Given the description of an element on the screen output the (x, y) to click on. 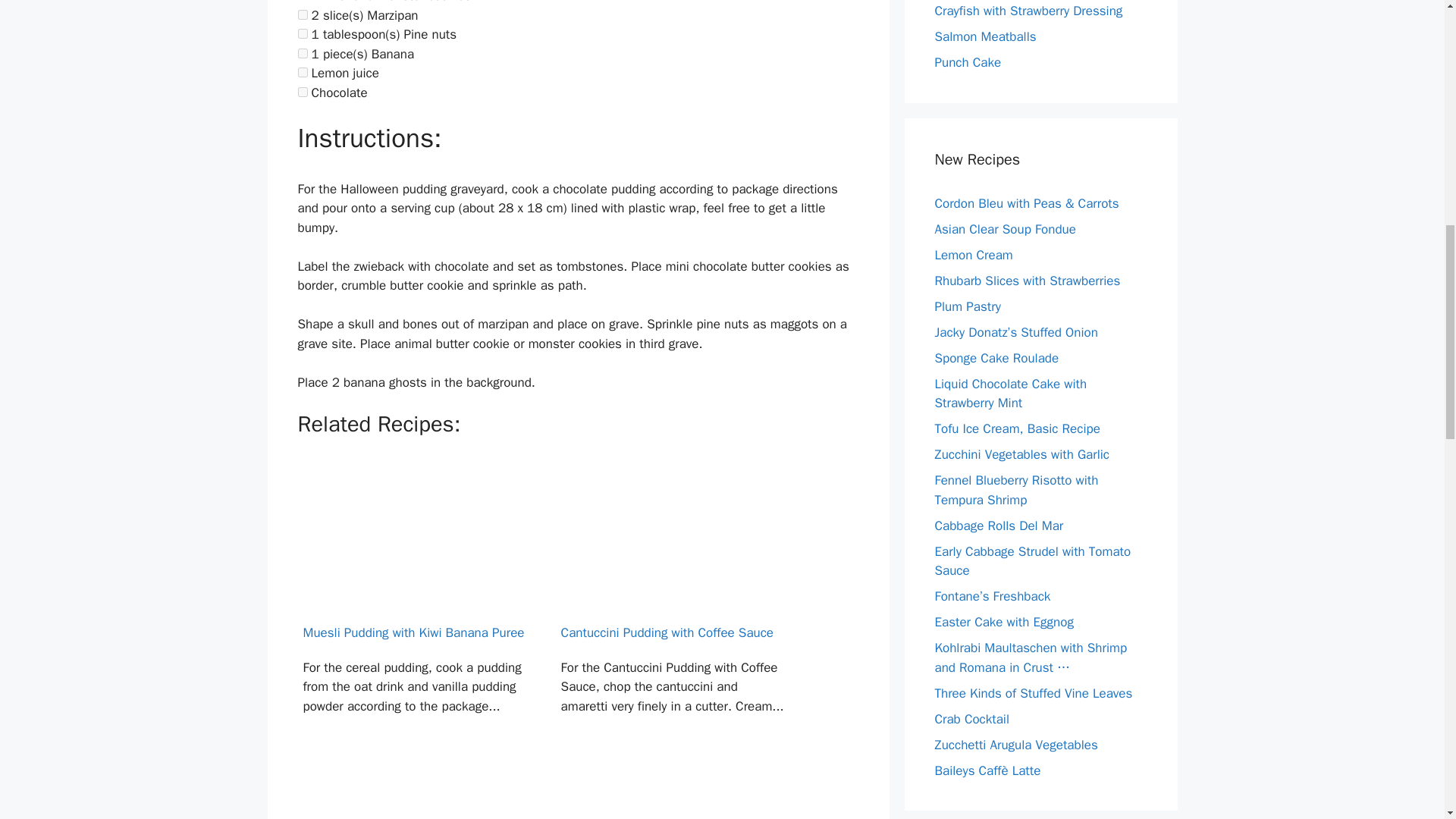
  Chocolate (302, 91)
Salmon Meatballs (984, 36)
Ginger Coconut Chocolates (414, 797)
Chocolate Mousse Torte (673, 797)
Crayfish with Strawberry Dressing (1028, 10)
  Lemon juice (302, 71)
Punch Cake (967, 62)
